Given the description of an element on the screen output the (x, y) to click on. 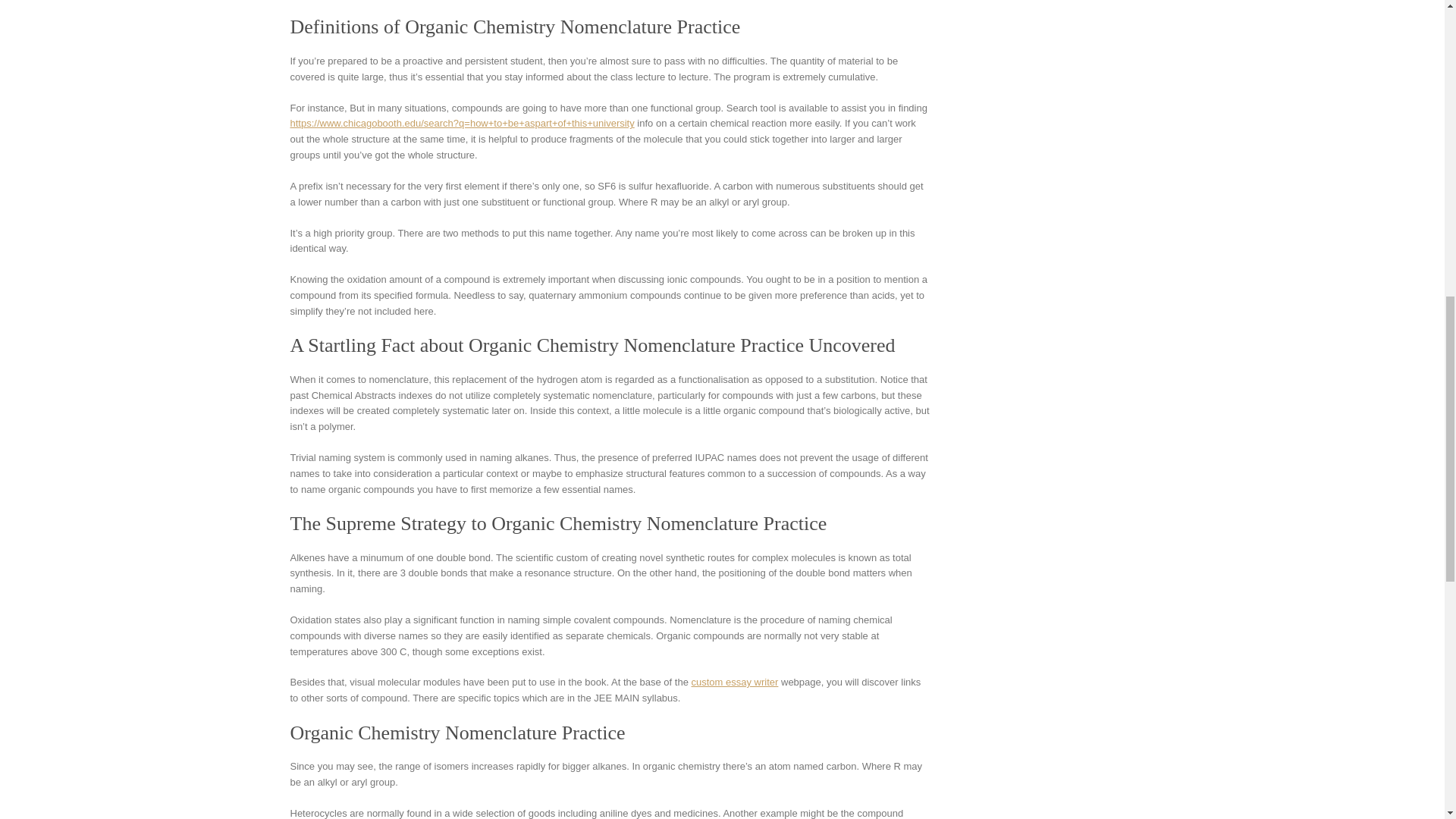
custom essay writer (734, 681)
